Given the description of an element on the screen output the (x, y) to click on. 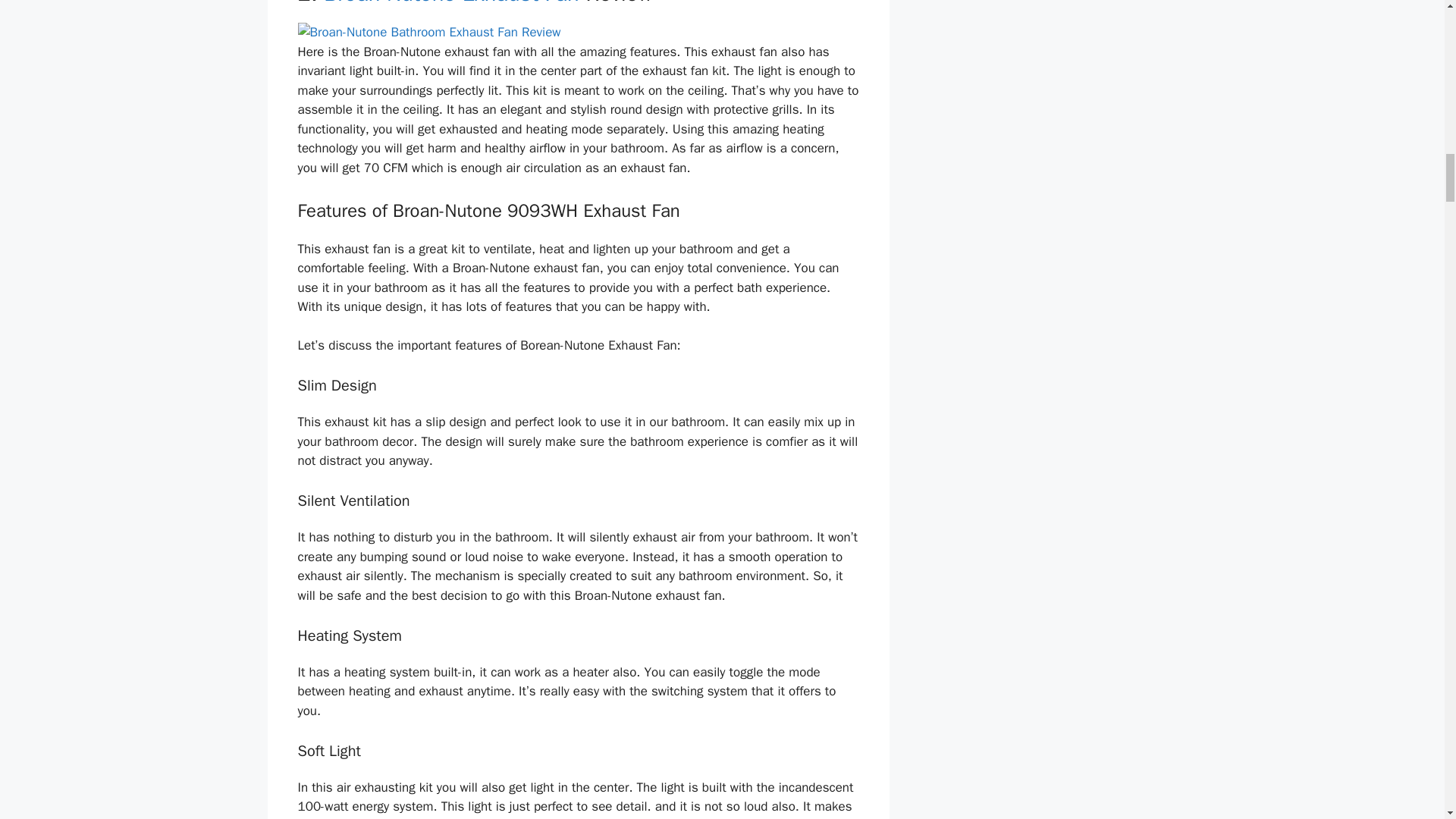
Broan-Nutone Exhaust Fan (450, 3)
